Given the description of an element on the screen output the (x, y) to click on. 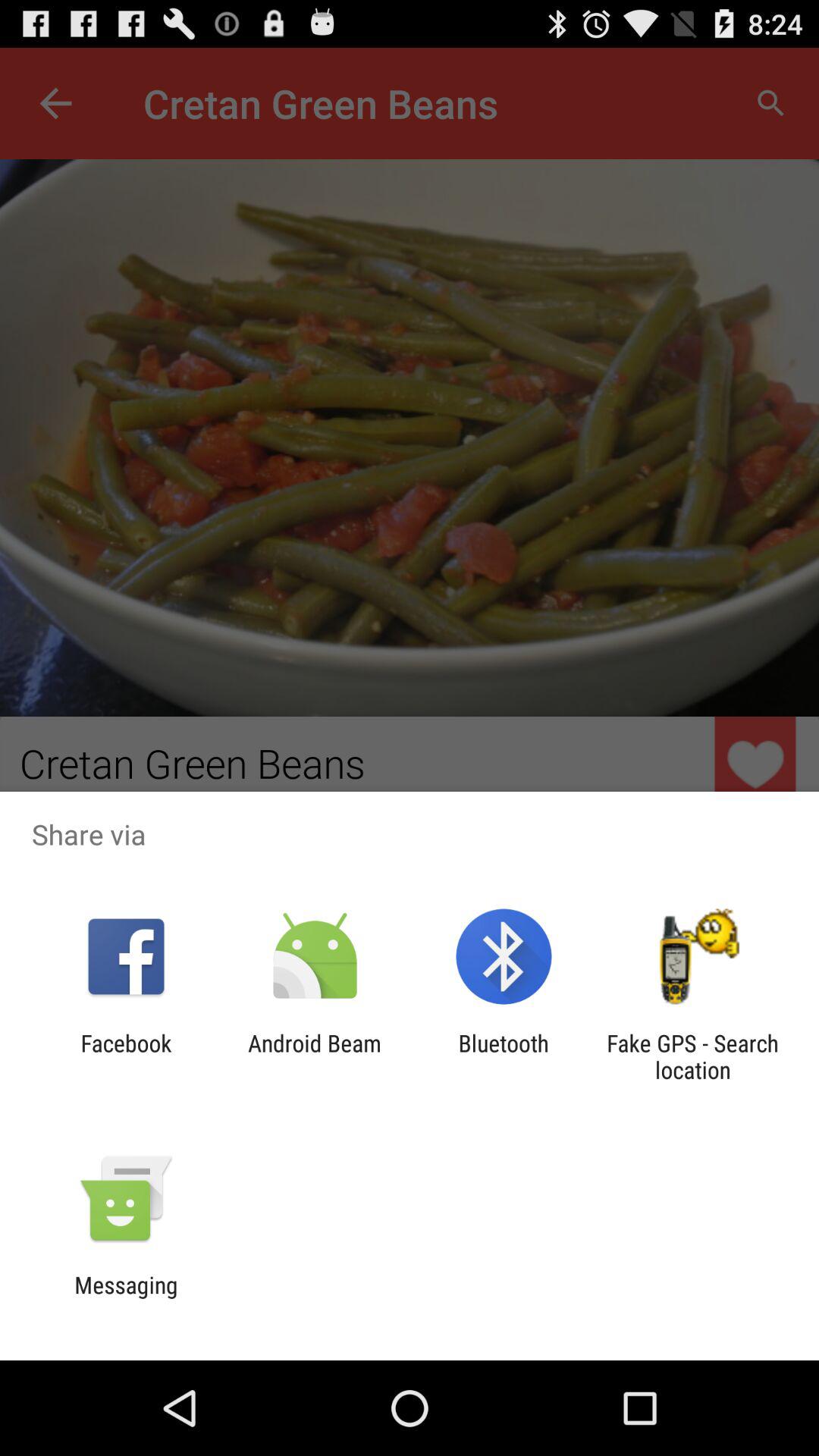
click item next to bluetooth (314, 1056)
